Given the description of an element on the screen output the (x, y) to click on. 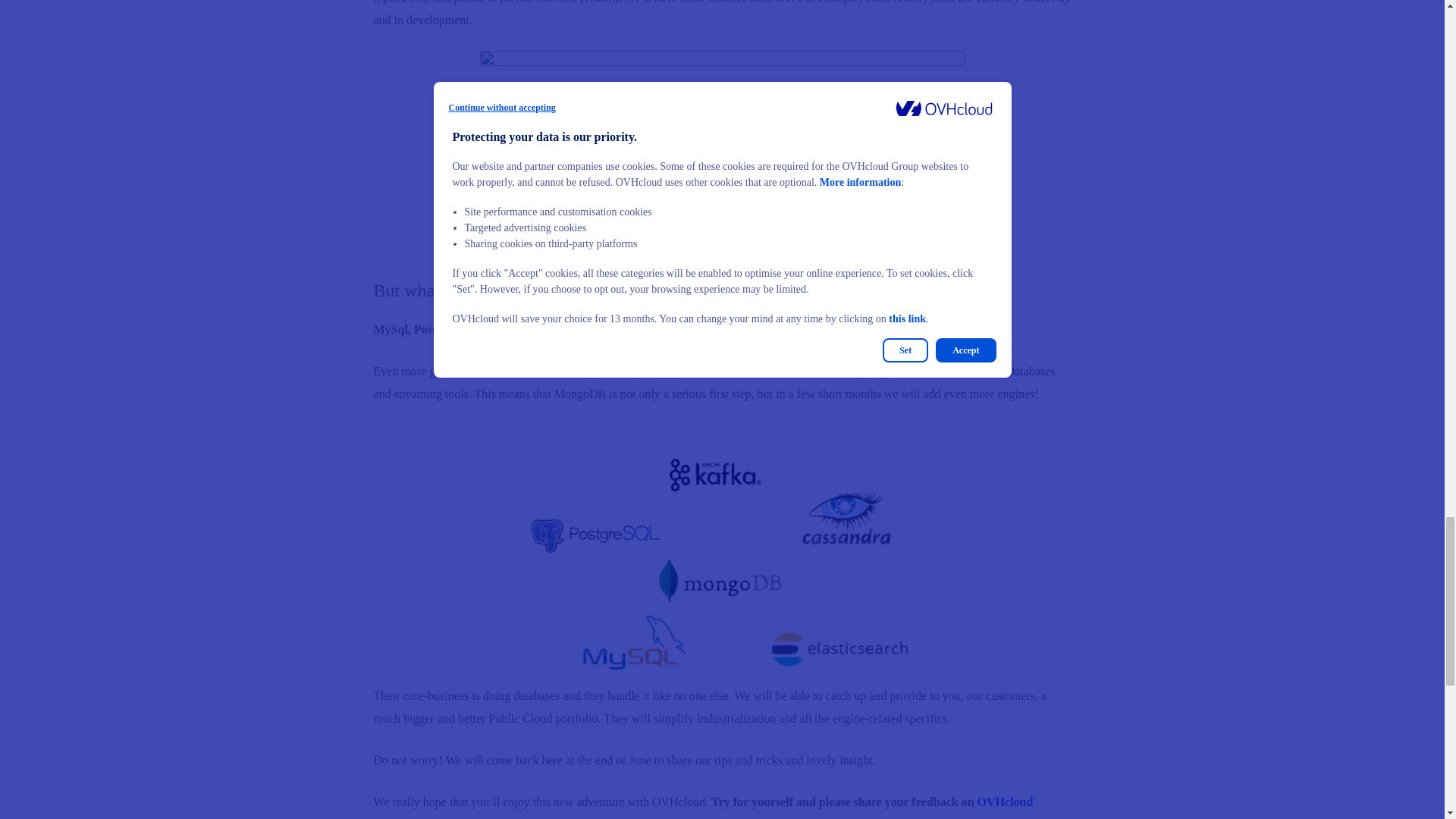
OVHcloud Discord (702, 807)
